Given the description of an element on the screen output the (x, y) to click on. 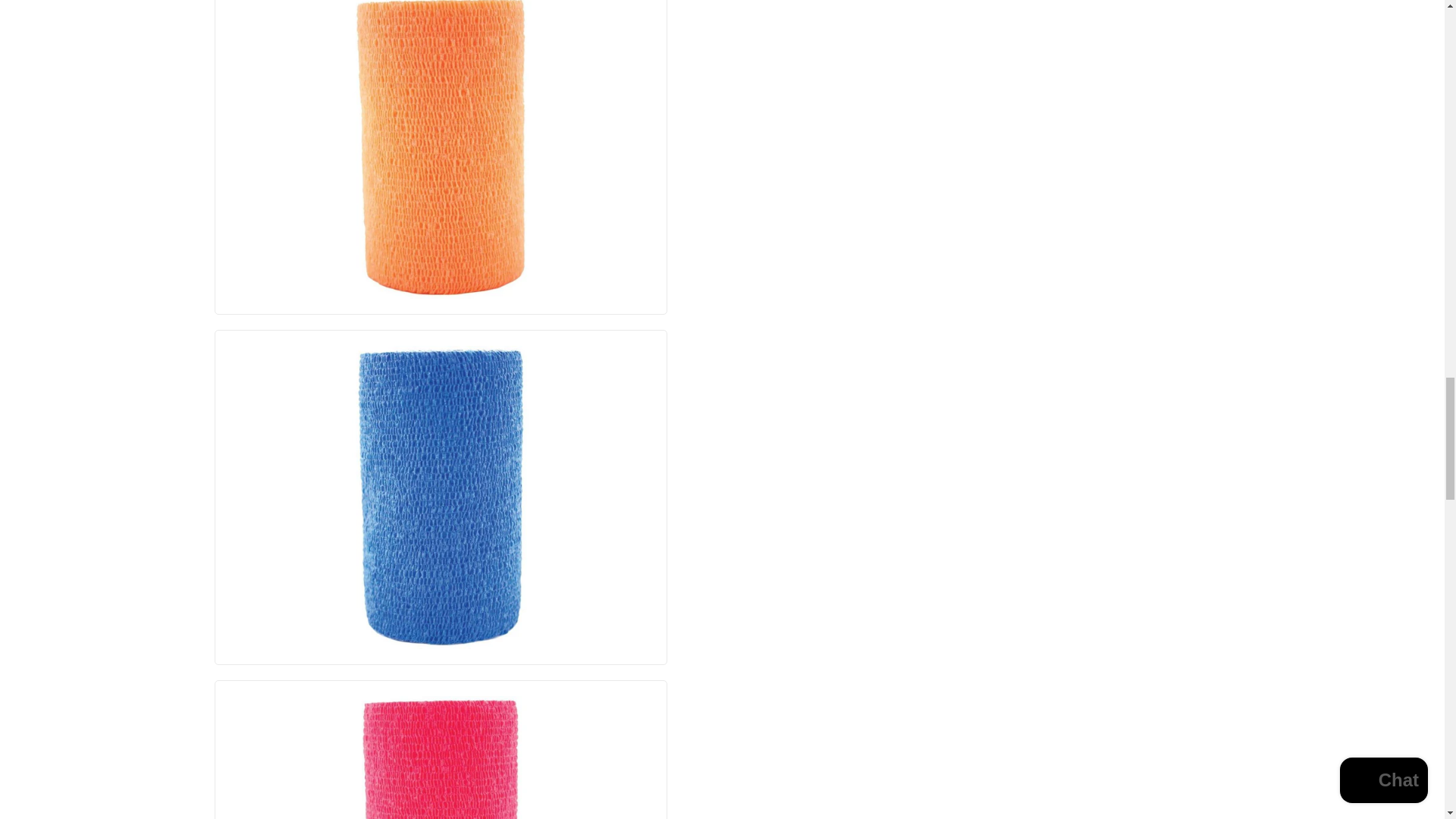
Open Product Zoom (441, 497)
Open Product Zoom (441, 149)
Open Product Zoom (441, 757)
